Given the description of an element on the screen output the (x, y) to click on. 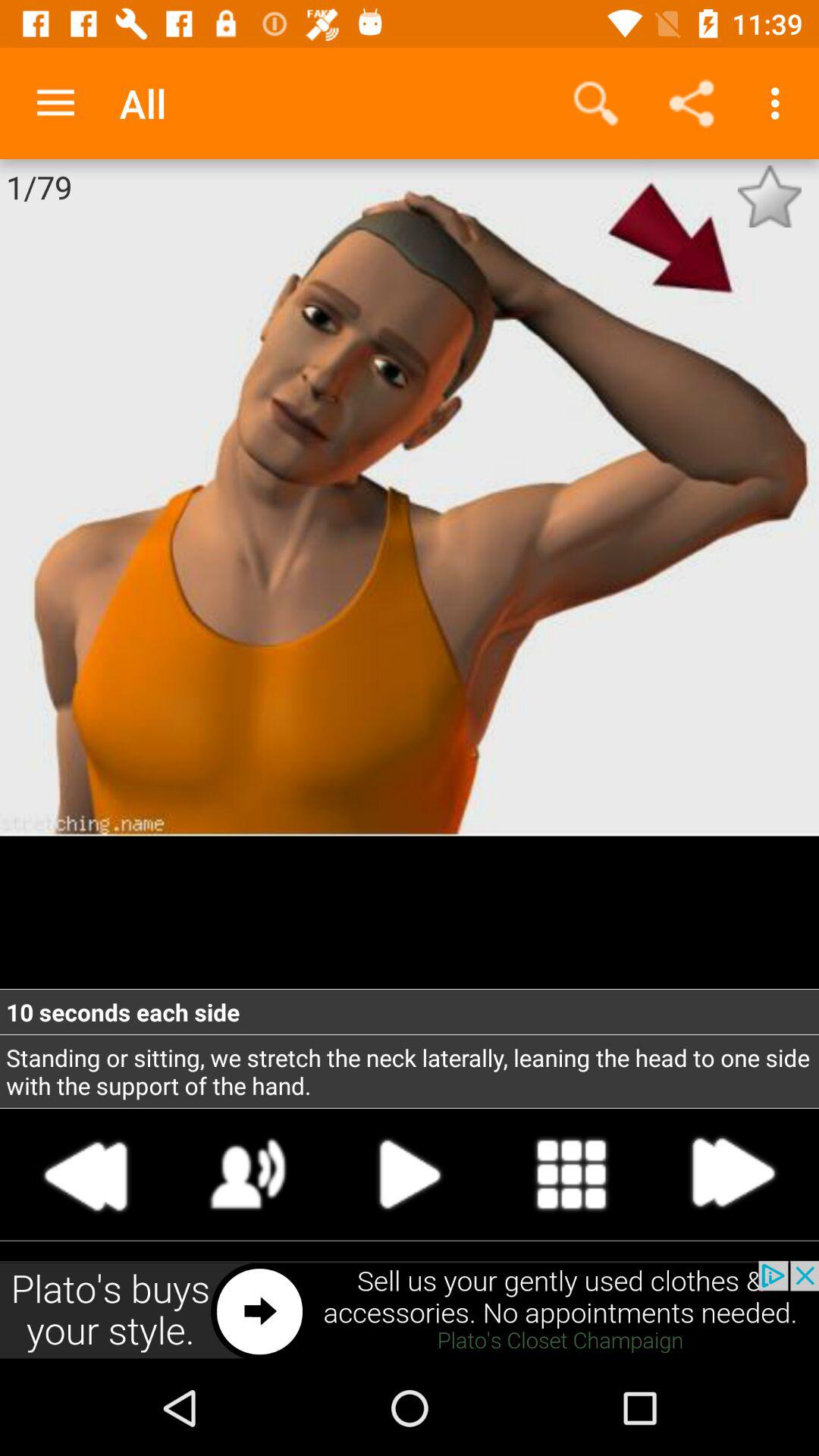
next (731, 1174)
